Given the description of an element on the screen output the (x, y) to click on. 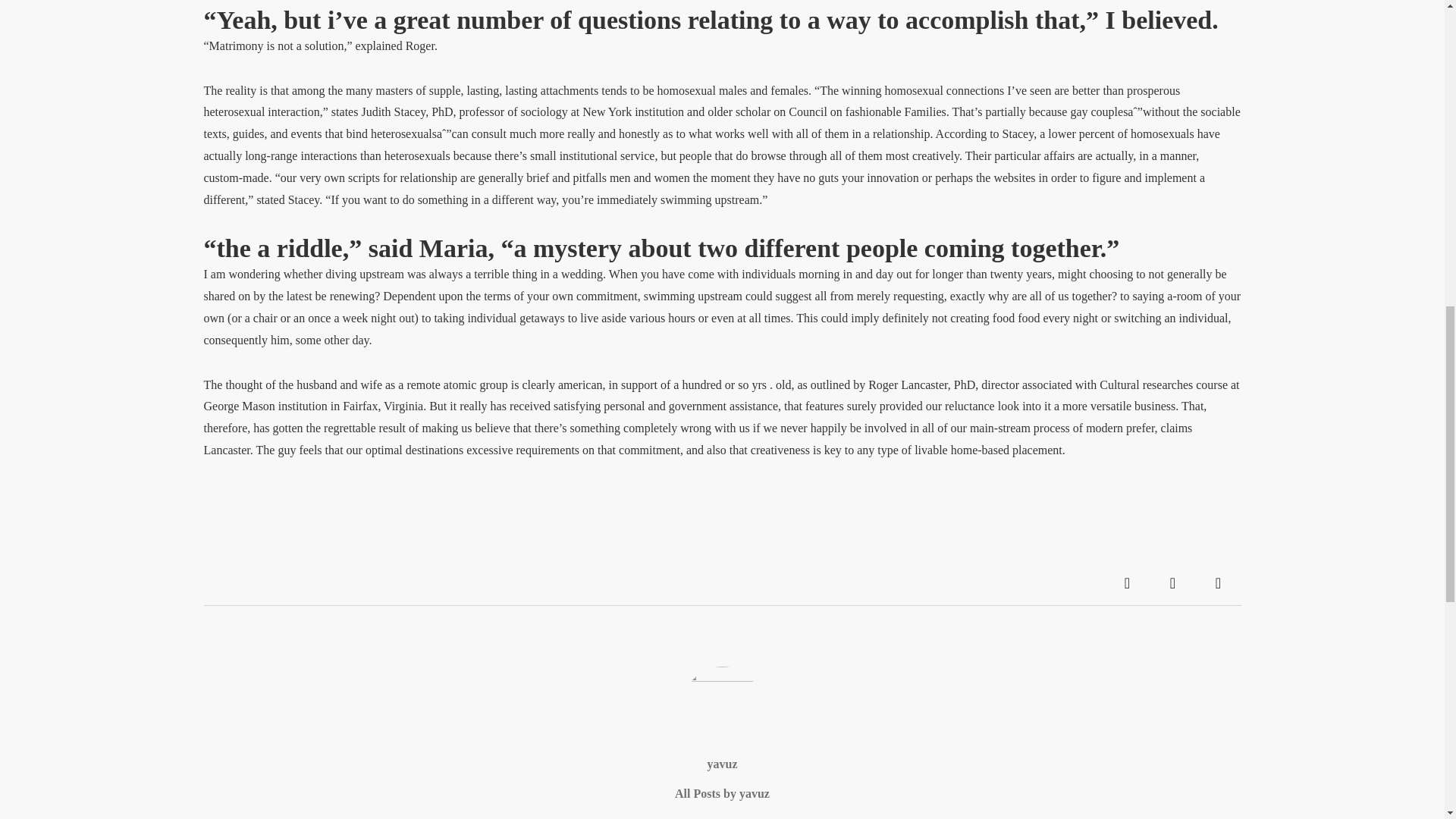
yavuz (721, 763)
Tweet this. (1172, 583)
Pin this. (1217, 583)
All Posts by yavuz (722, 793)
Share this. (1126, 583)
